Given the description of an element on the screen output the (x, y) to click on. 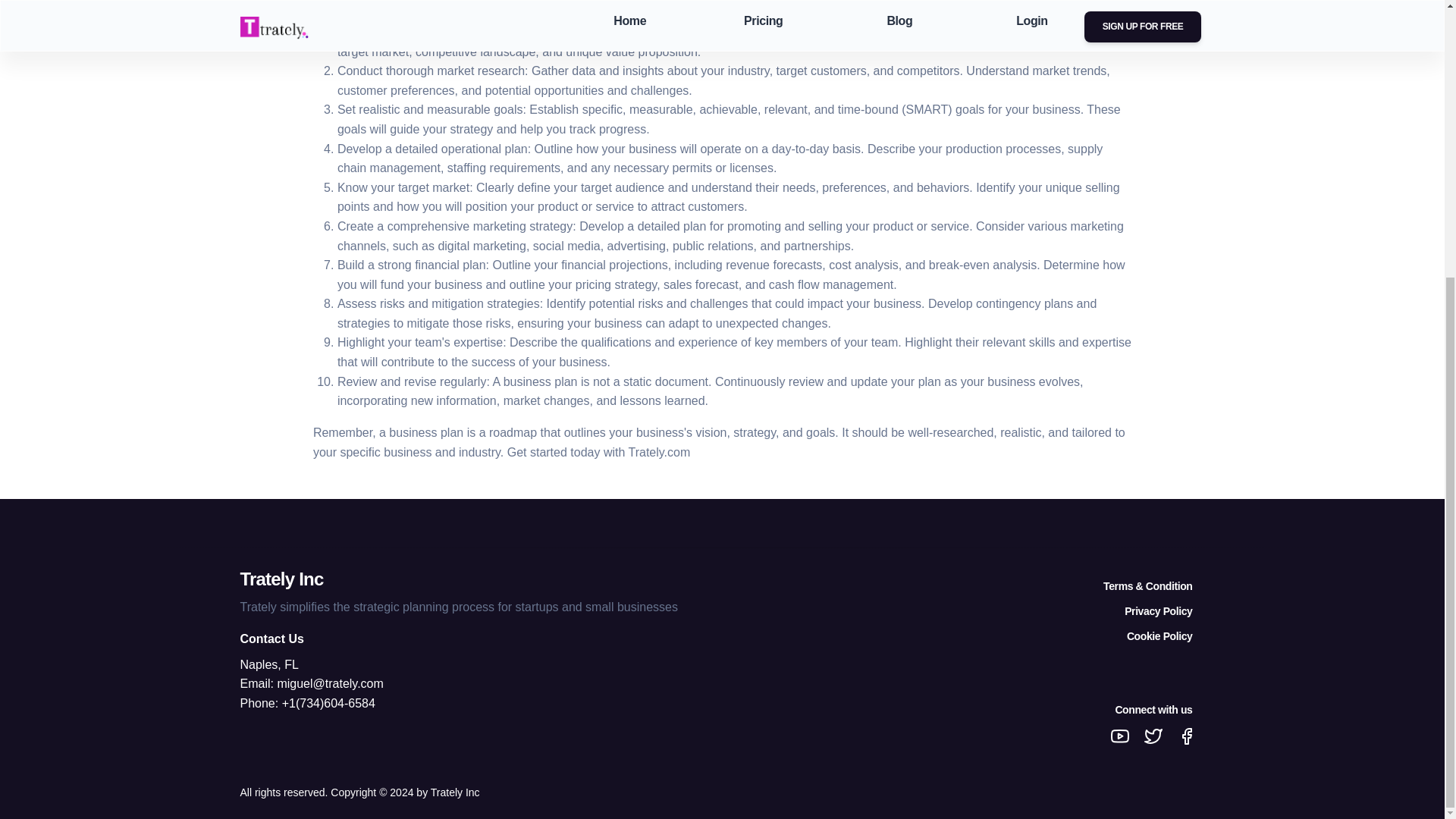
Cookie Policy (961, 640)
Connect with us (961, 714)
Privacy Policy (961, 615)
